Given the description of an element on the screen output the (x, y) to click on. 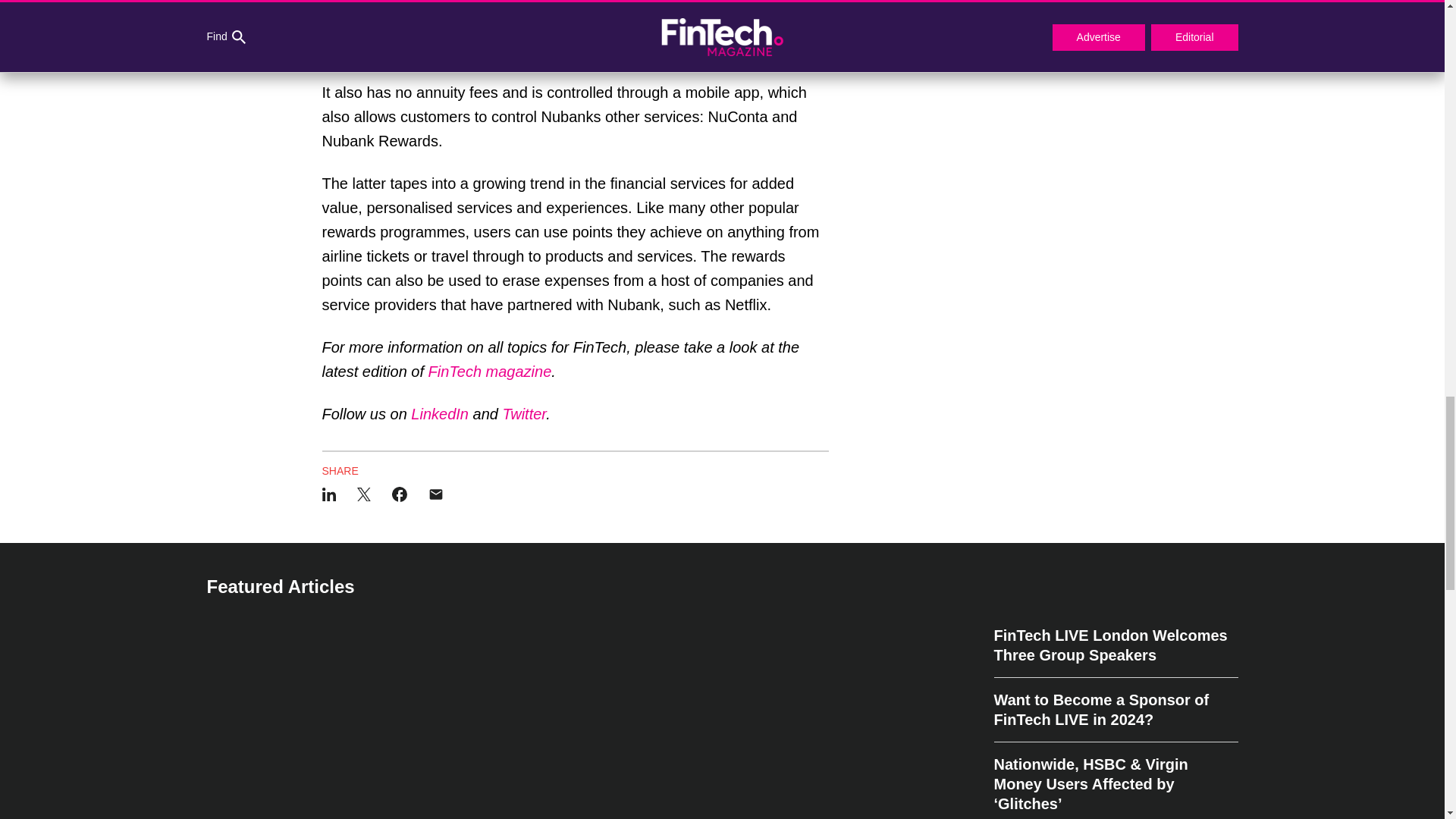
FinTech LIVE London Welcomes Three Group Speakers (1114, 651)
Twitter (524, 413)
FinTech magazine (489, 371)
Want to Become a Sponsor of FinTech LIVE in 2024? (1114, 710)
LinkedIn (439, 413)
